Given the description of an element on the screen output the (x, y) to click on. 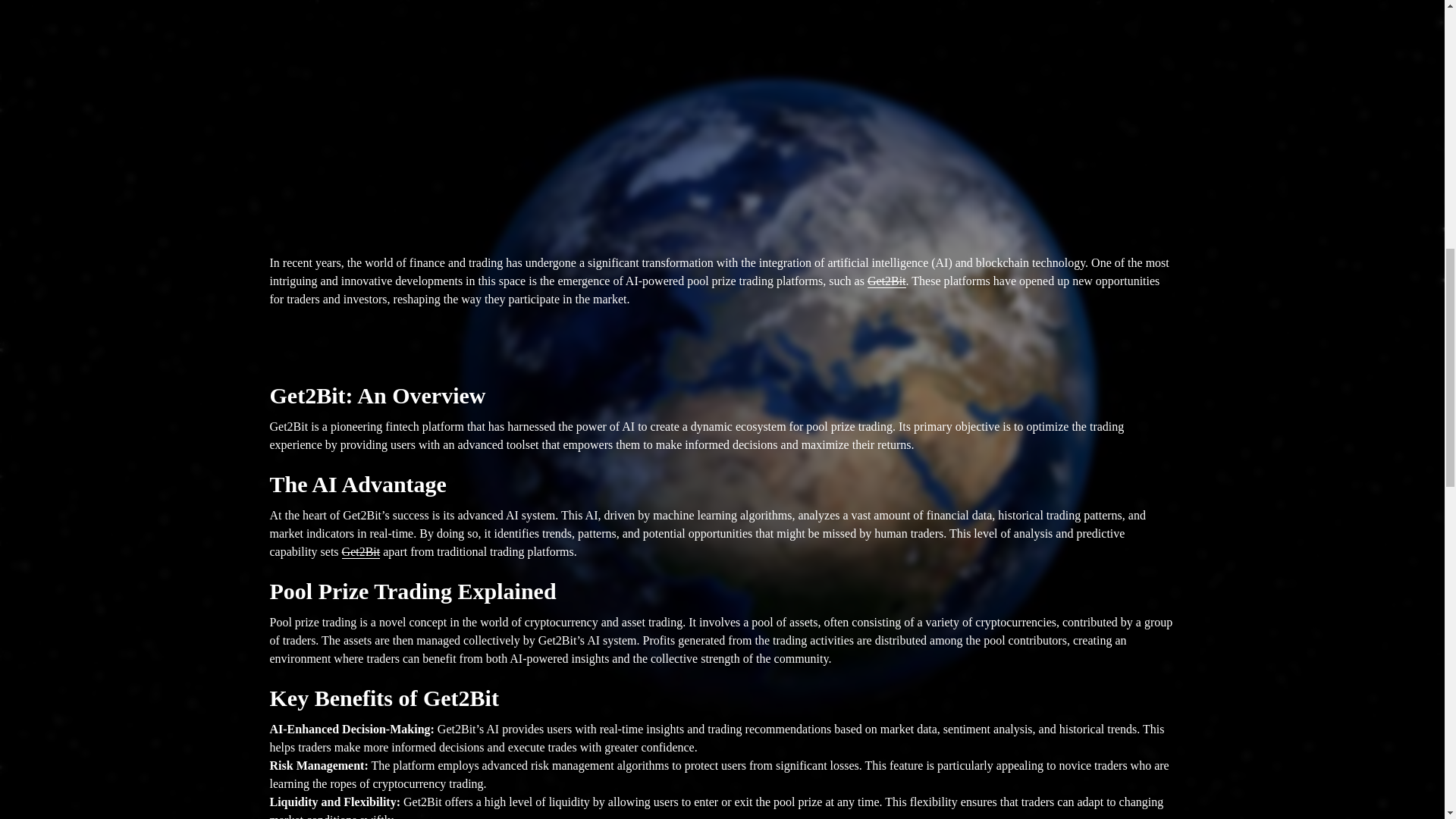
Get2Bit (886, 281)
Get2Bit (361, 551)
